Given the description of an element on the screen output the (x, y) to click on. 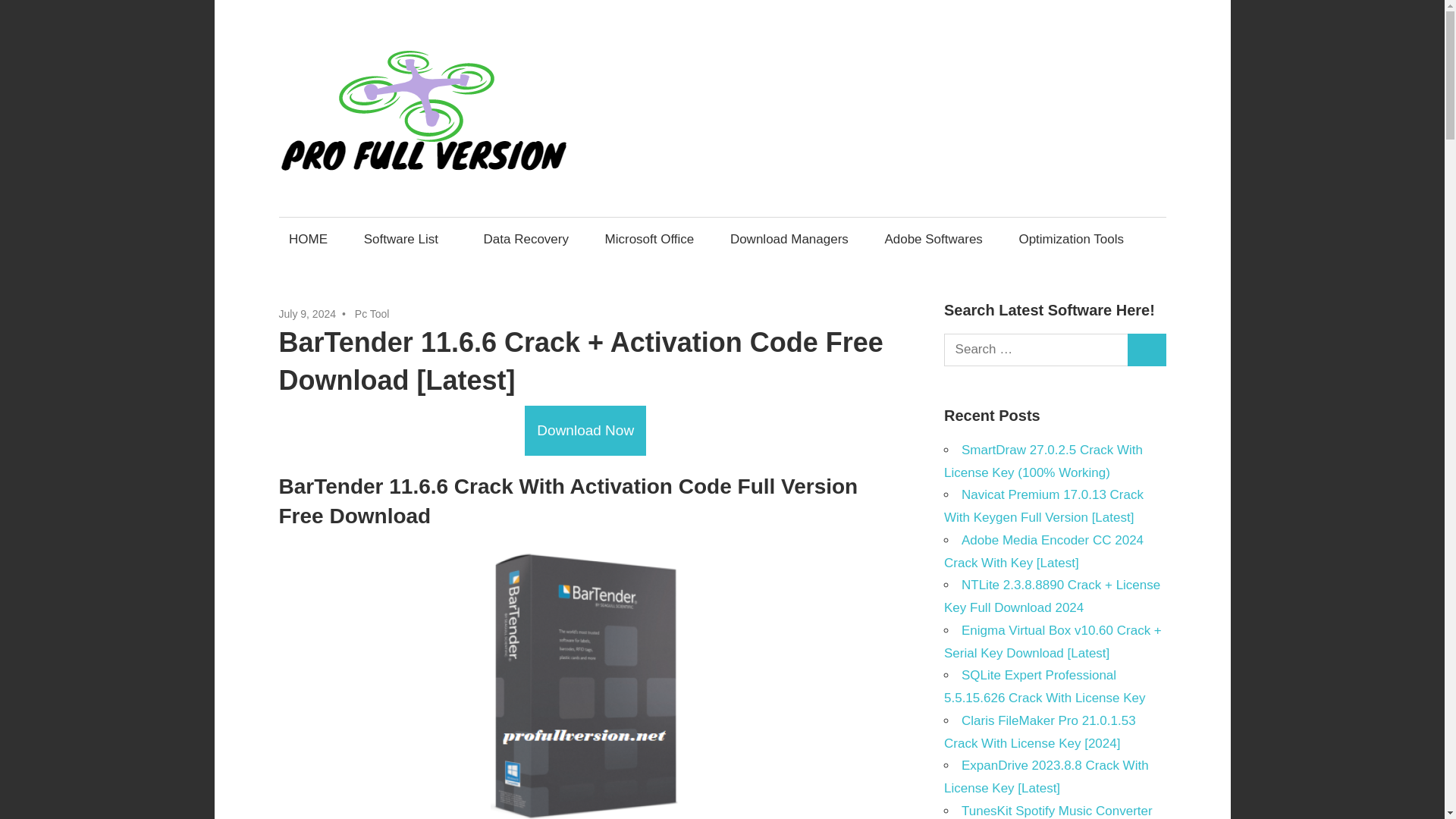
Adobe Softwares (933, 239)
Data Recovery (526, 239)
Pc Tool (372, 313)
HOME (308, 239)
10:55 am (307, 313)
July 9, 2024 (307, 313)
Software List (405, 239)
Download Managers (789, 239)
Download Now (585, 430)
Optimization Tools (1071, 239)
